Given the description of an element on the screen output the (x, y) to click on. 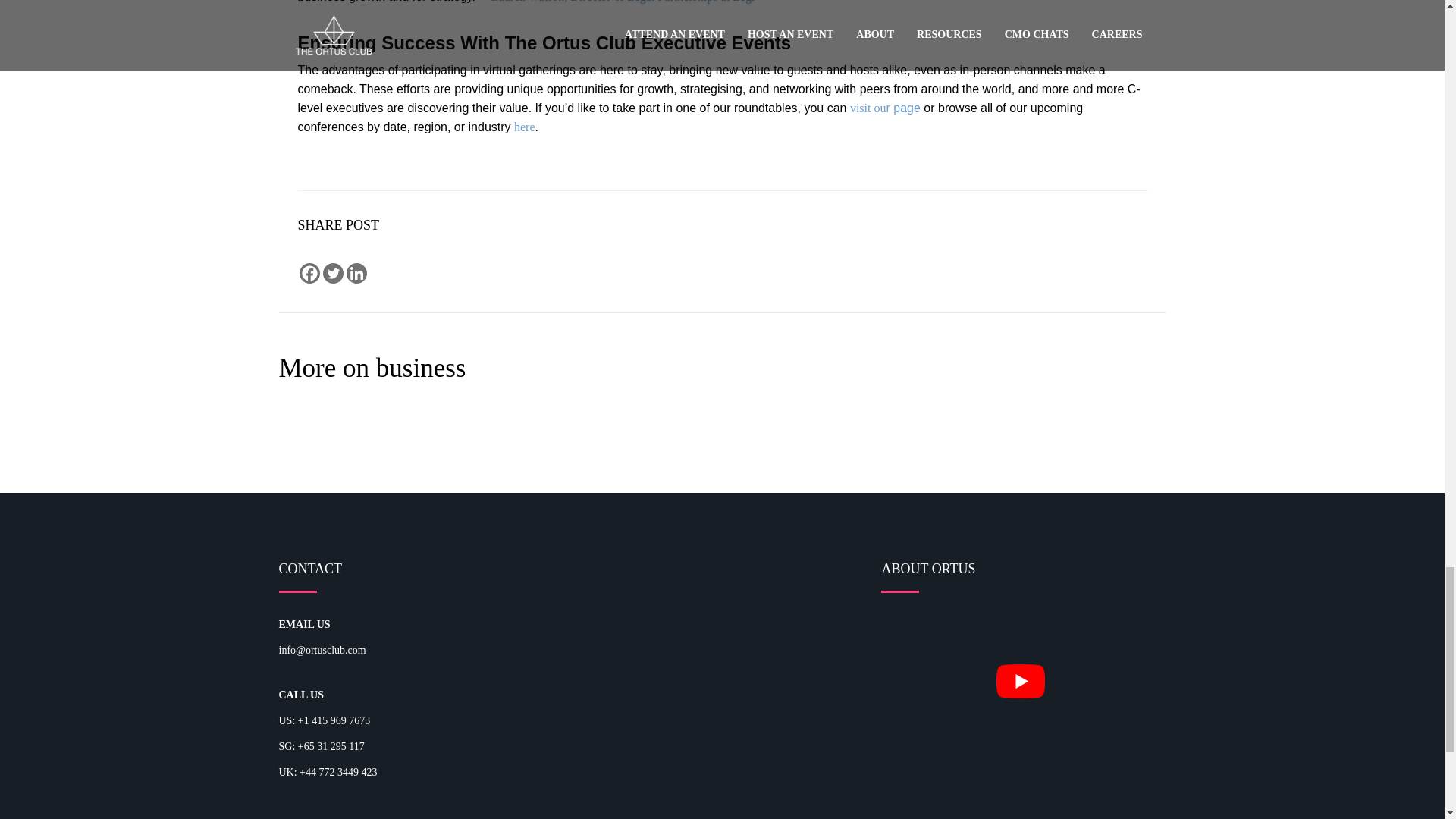
Lauren Watson, Director of Legal Partnerships at Legl (623, 1)
visit (862, 107)
here (524, 126)
Twitter (333, 272)
ou (879, 107)
Facebook (308, 272)
